Given the description of an element on the screen output the (x, y) to click on. 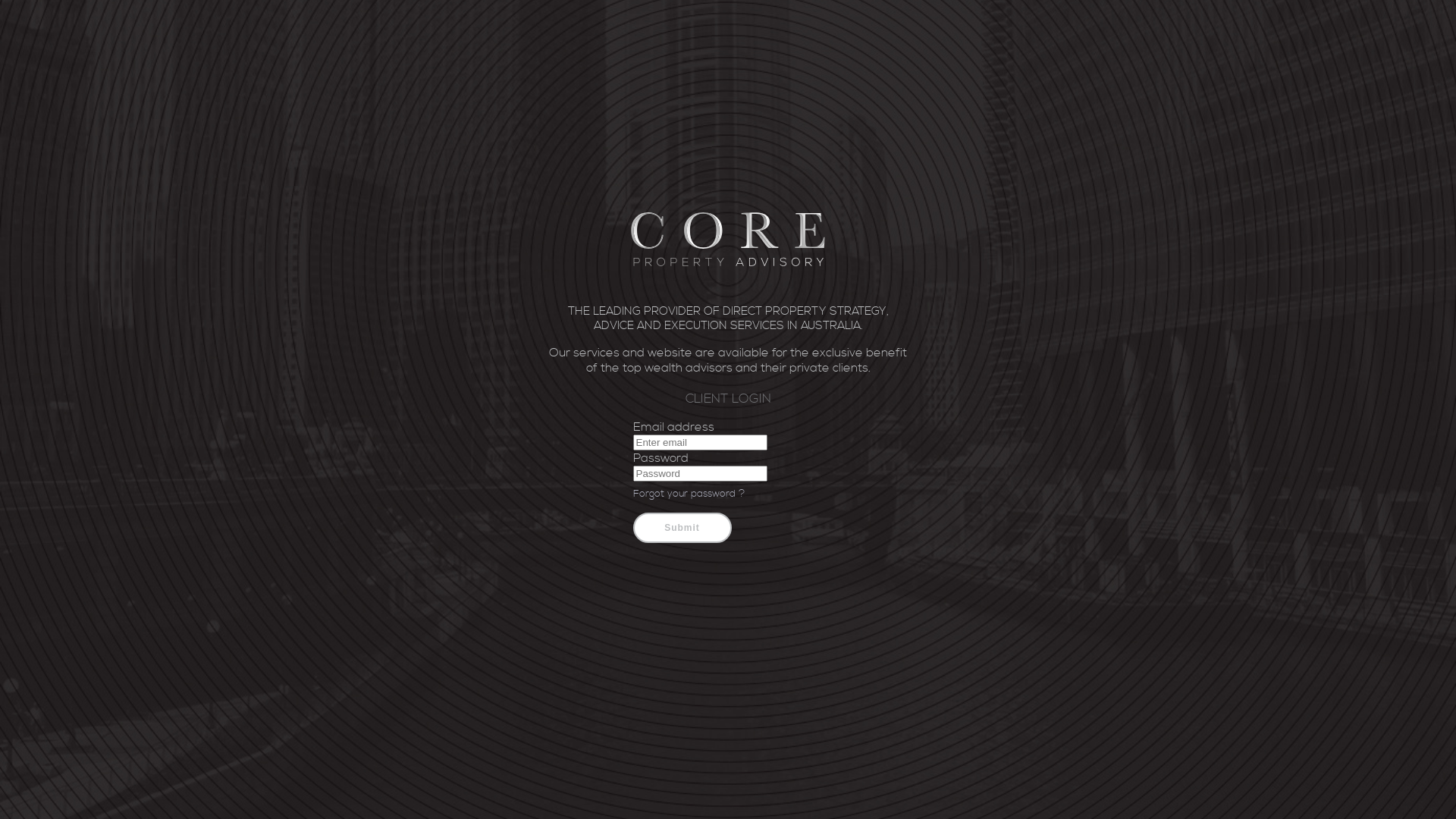
Submit Element type: text (681, 527)
Forgot your password ? Element type: text (687, 493)
CLIENT LOGIN Element type: text (728, 398)
